Given the description of an element on the screen output the (x, y) to click on. 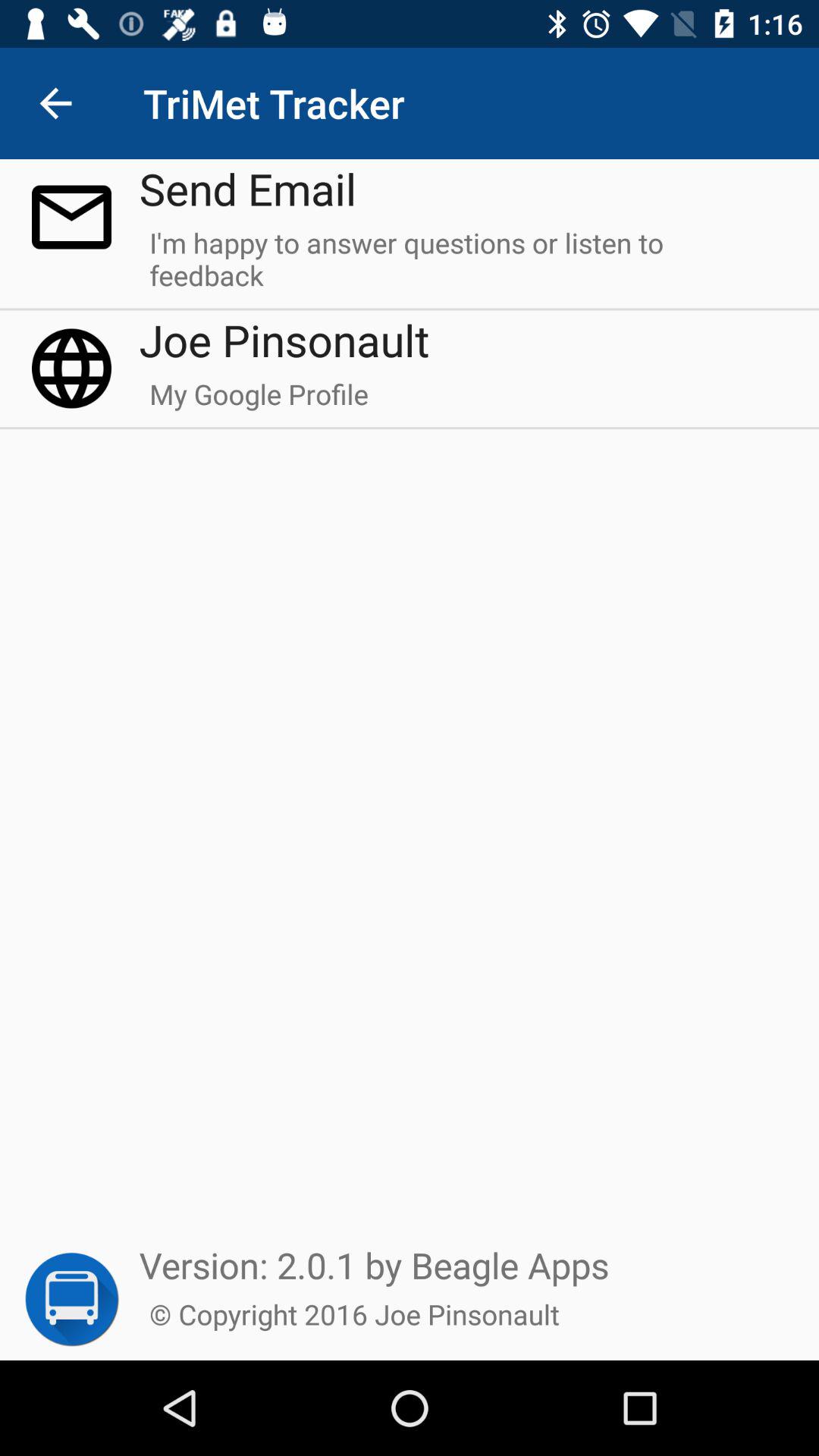
turn off the item above the version 2 0 (258, 401)
